Given the description of an element on the screen output the (x, y) to click on. 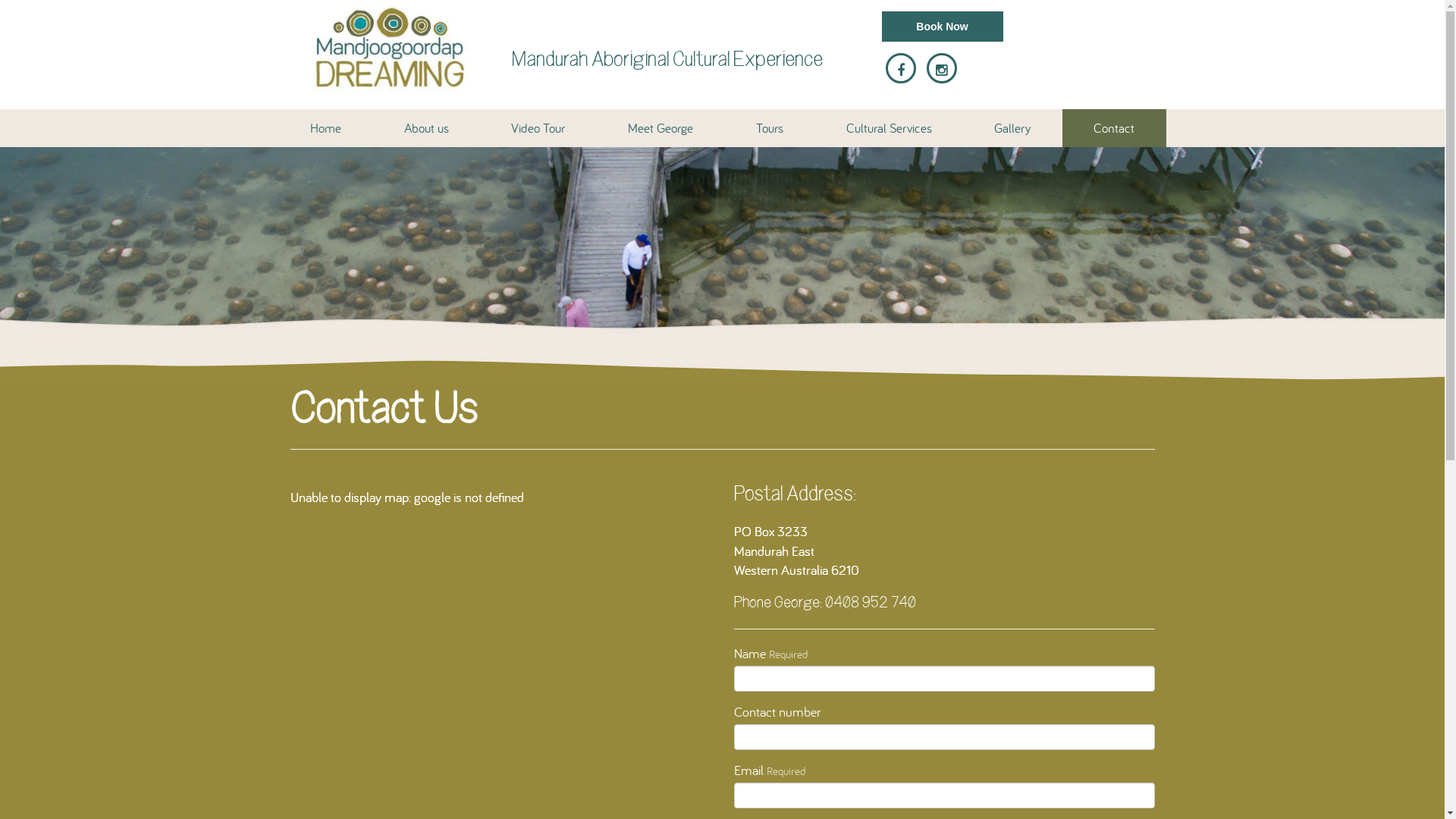
Tours Element type: text (769, 128)
Meet George Element type: text (660, 128)
About us Element type: text (426, 128)
Home Element type: text (326, 128)
Gallery Element type: text (1012, 128)
Book Now Element type: text (941, 26)
Contact Element type: text (1114, 128)
Video Tour Element type: text (538, 128)
Cultural Services Element type: text (888, 128)
